Given the description of an element on the screen output the (x, y) to click on. 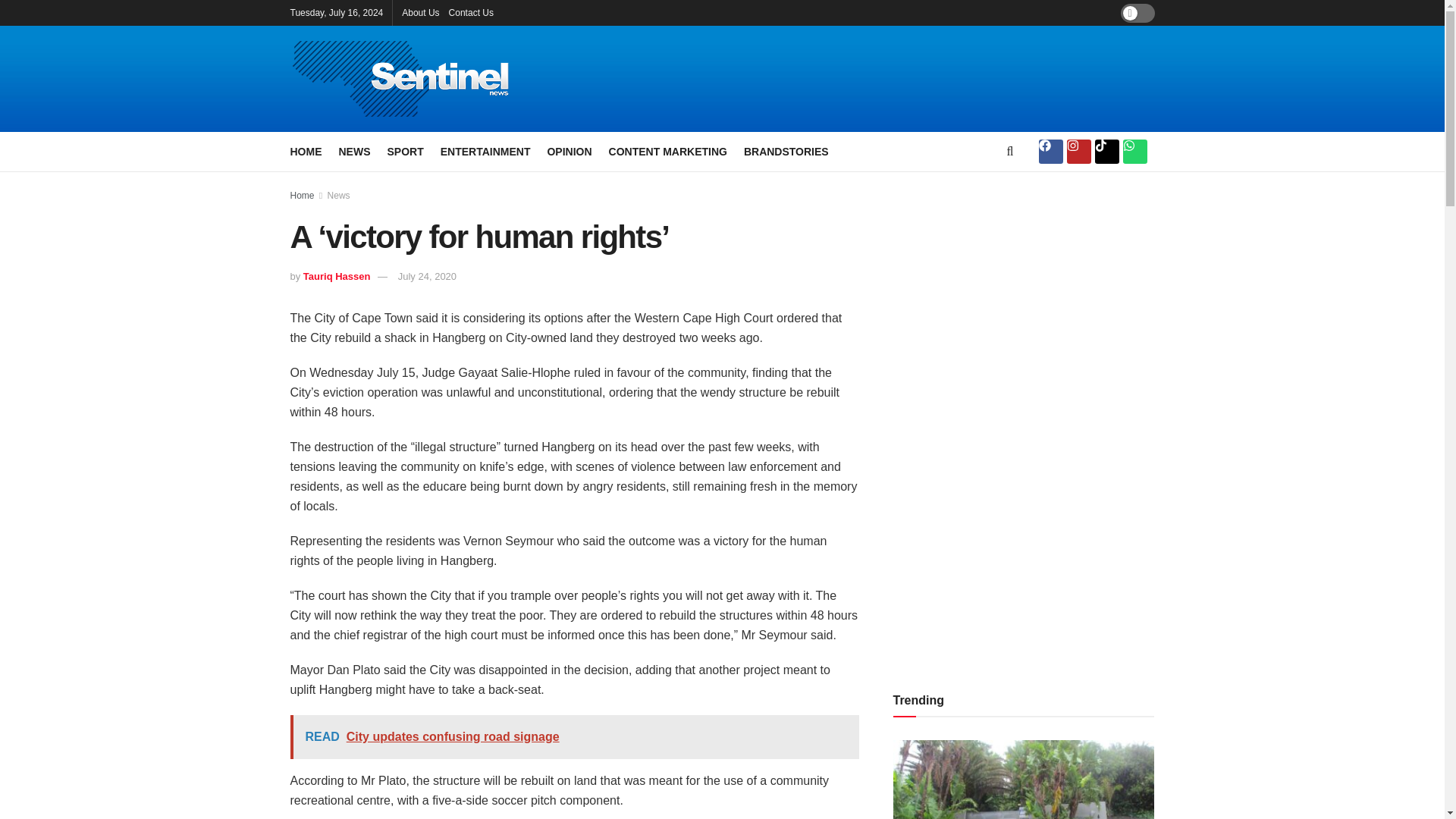
News (338, 195)
3rd party ad content (888, 79)
BRANDSTORIES (786, 151)
About Us (420, 12)
NEWS (353, 151)
HOME (305, 151)
OPINION (569, 151)
Tauriq Hassen (336, 276)
CONTENT MARKETING (667, 151)
SPORT (405, 151)
ENTERTAINMENT (486, 151)
July 24, 2020 (427, 276)
Contact Us (470, 12)
READ  City updates confusing road signage (574, 736)
Home (301, 195)
